Given the description of an element on the screen output the (x, y) to click on. 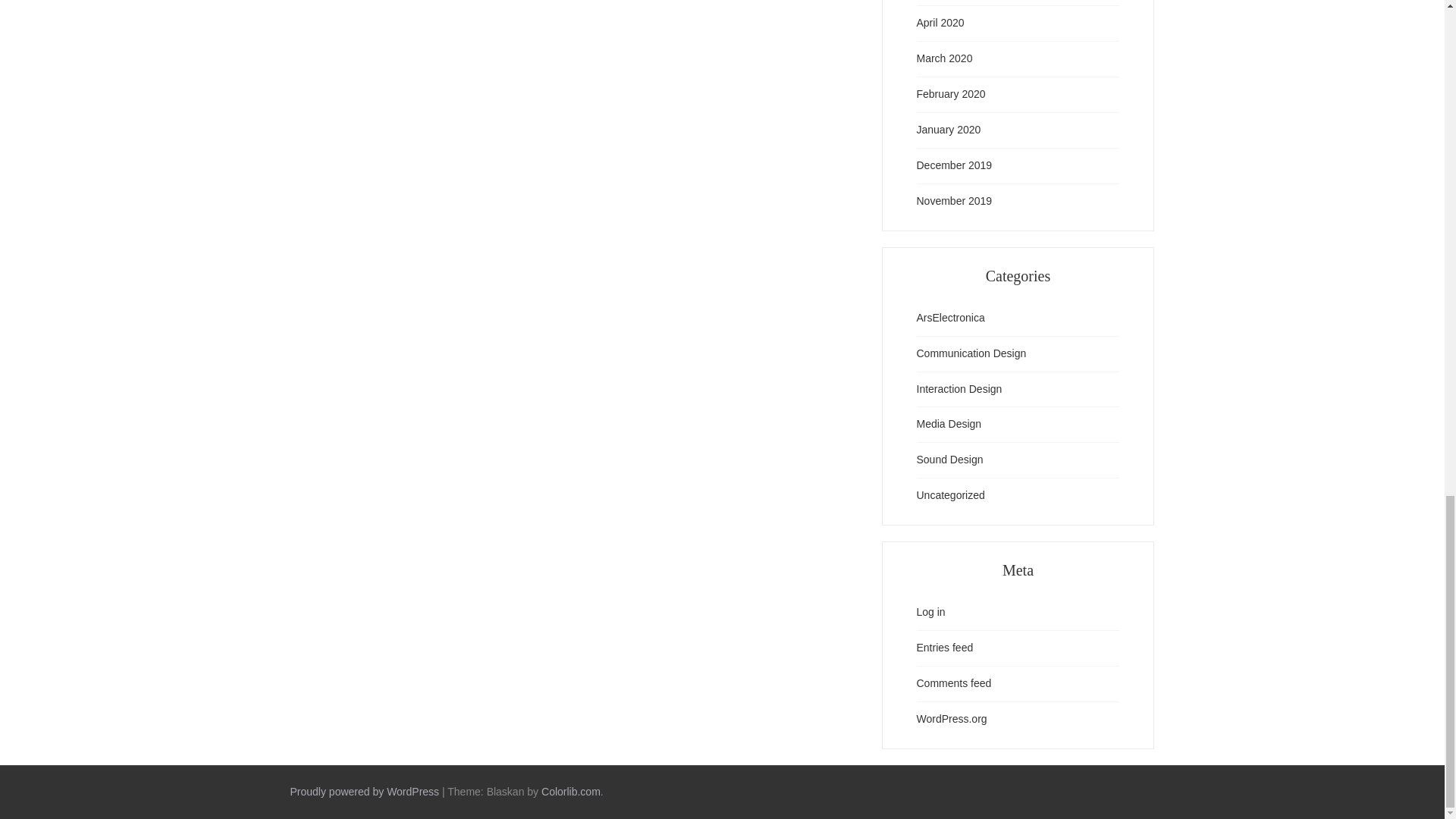
February 2020 (950, 94)
April 2020 (939, 23)
January 2020 (947, 130)
March 2020 (943, 58)
December 2019 (953, 166)
November 2019 (953, 201)
